Given the description of an element on the screen output the (x, y) to click on. 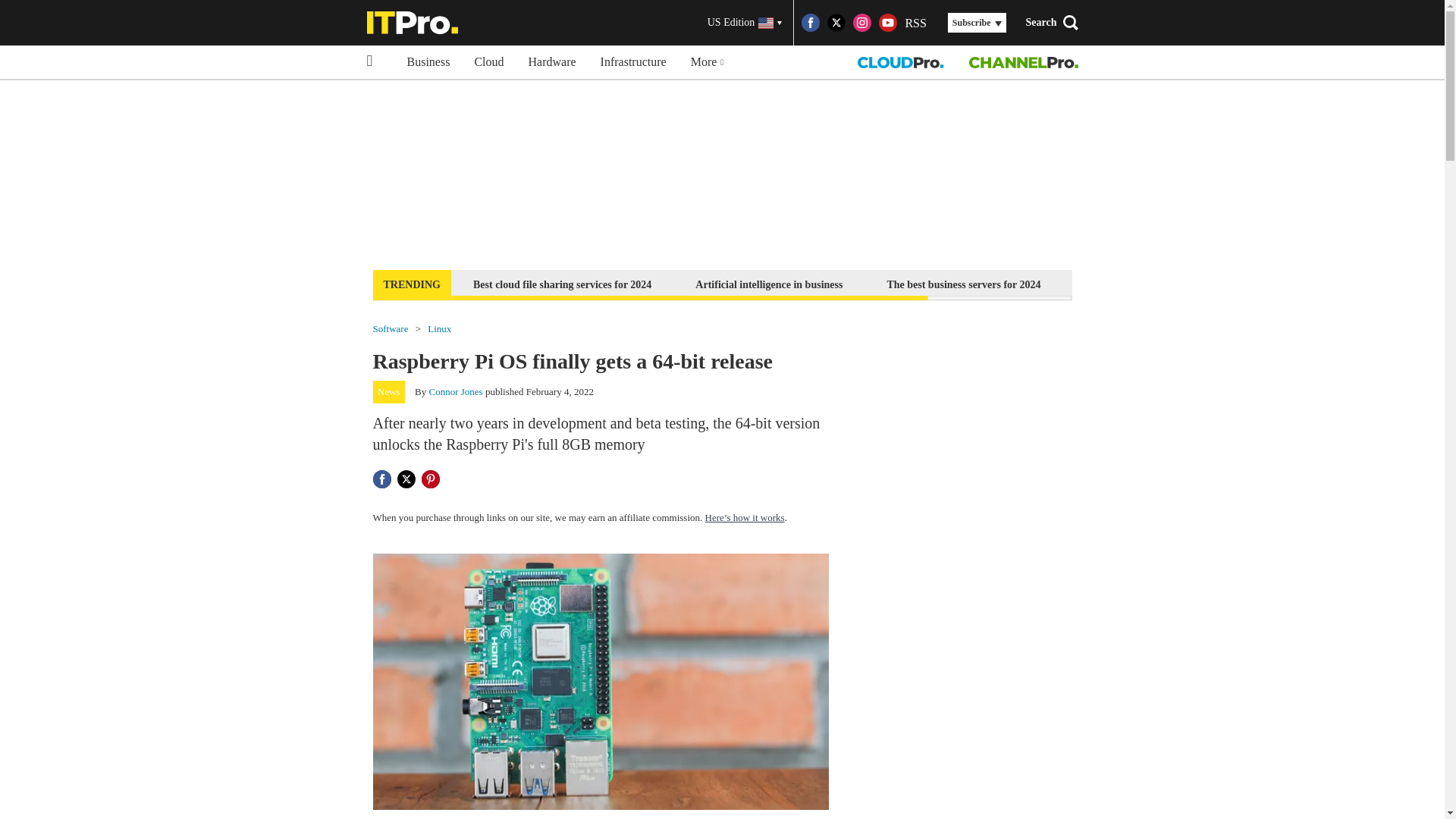
Business (427, 61)
RSS (915, 22)
Software (390, 327)
Hardware (552, 61)
Subscribe to the ITPro newsletter (1161, 284)
Cloud (488, 61)
News (389, 391)
Connor Jones (456, 391)
Best cloud file sharing services for 2024 (561, 284)
The best business servers for 2024 (962, 284)
